Given the description of an element on the screen output the (x, y) to click on. 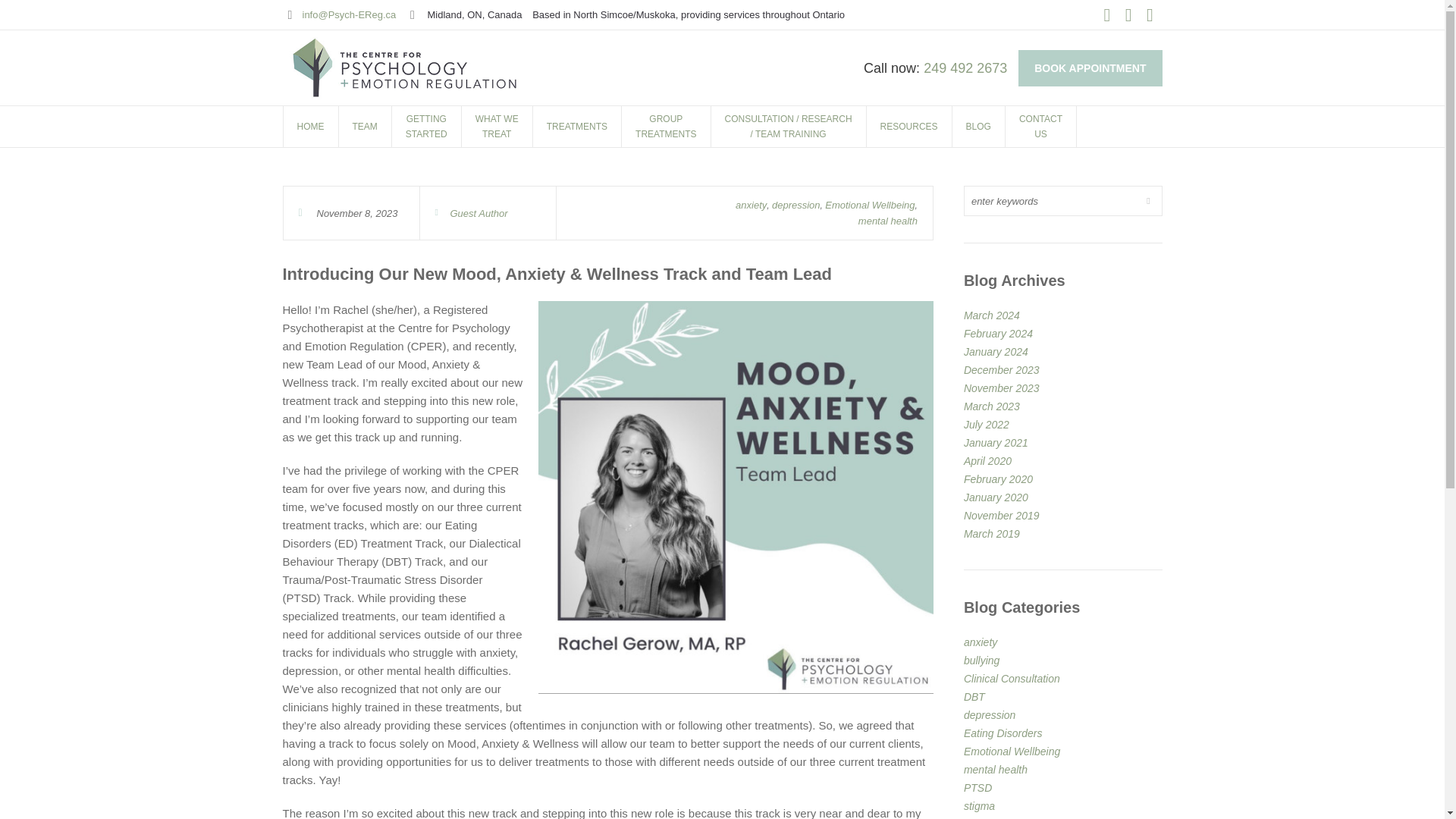
249 492 2673 (965, 68)
Instagram (426, 126)
HOME (1128, 14)
Calendar (310, 126)
Facebook (1149, 14)
TEAM (1106, 14)
November 8, 2023 (363, 126)
BOOK APPOINTMENT (347, 212)
TREATMENTS (1089, 67)
Posts by Guest Author (576, 126)
